Given the description of an element on the screen output the (x, y) to click on. 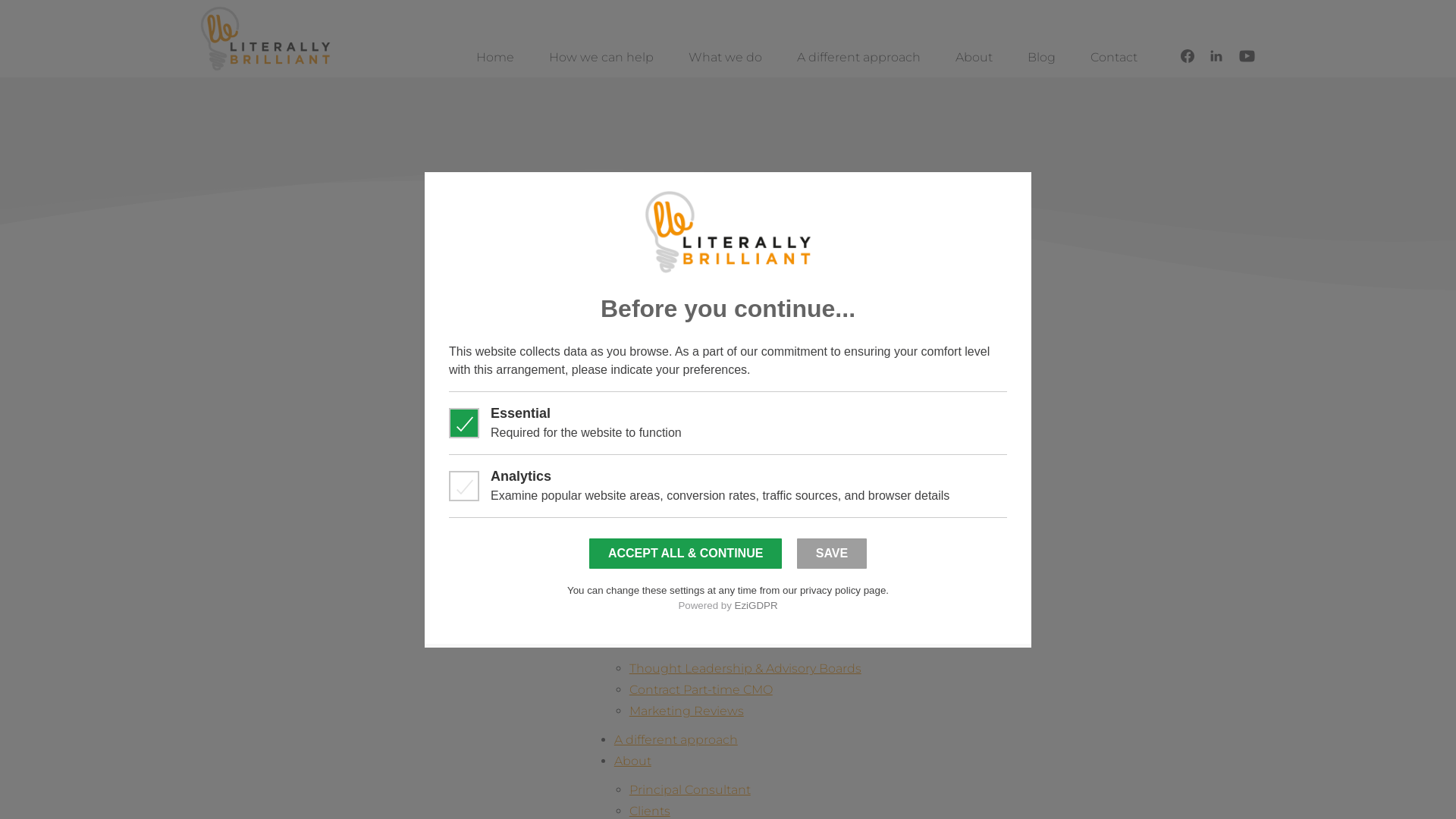
Strategy Mentoring Element type: text (702, 618)
Clients Element type: text (649, 810)
How we can help Element type: text (601, 57)
Home Element type: text (494, 57)
Strategic Services Element type: text (681, 468)
A different approach Element type: text (858, 57)
What we do Element type: text (650, 439)
How we can help Element type: text (666, 418)
Strategy Implementation Element type: text (720, 539)
Contract Part-time CMO Element type: text (700, 689)
Annual Strategy Check-up Element type: text (723, 639)
Contact Element type: text (1113, 57)
Blog Element type: text (1041, 57)
A different approach Element type: text (675, 739)
Thought Leadership & Advisory Boards Element type: text (745, 668)
What we do Element type: text (724, 57)
About Element type: text (973, 57)
Follow us on Facebook Element type: text (1187, 55)
Connect with us on LinkedIn Element type: text (1216, 55)
Follow us on YouTube Element type: text (1246, 55)
Home Element type: text (618, 352)
Principal Consultant Element type: text (689, 789)
Strategy Development Element type: text (712, 518)
About Element type: text (632, 760)
Marketing Reviews Element type: text (686, 710)
